Given the description of an element on the screen output the (x, y) to click on. 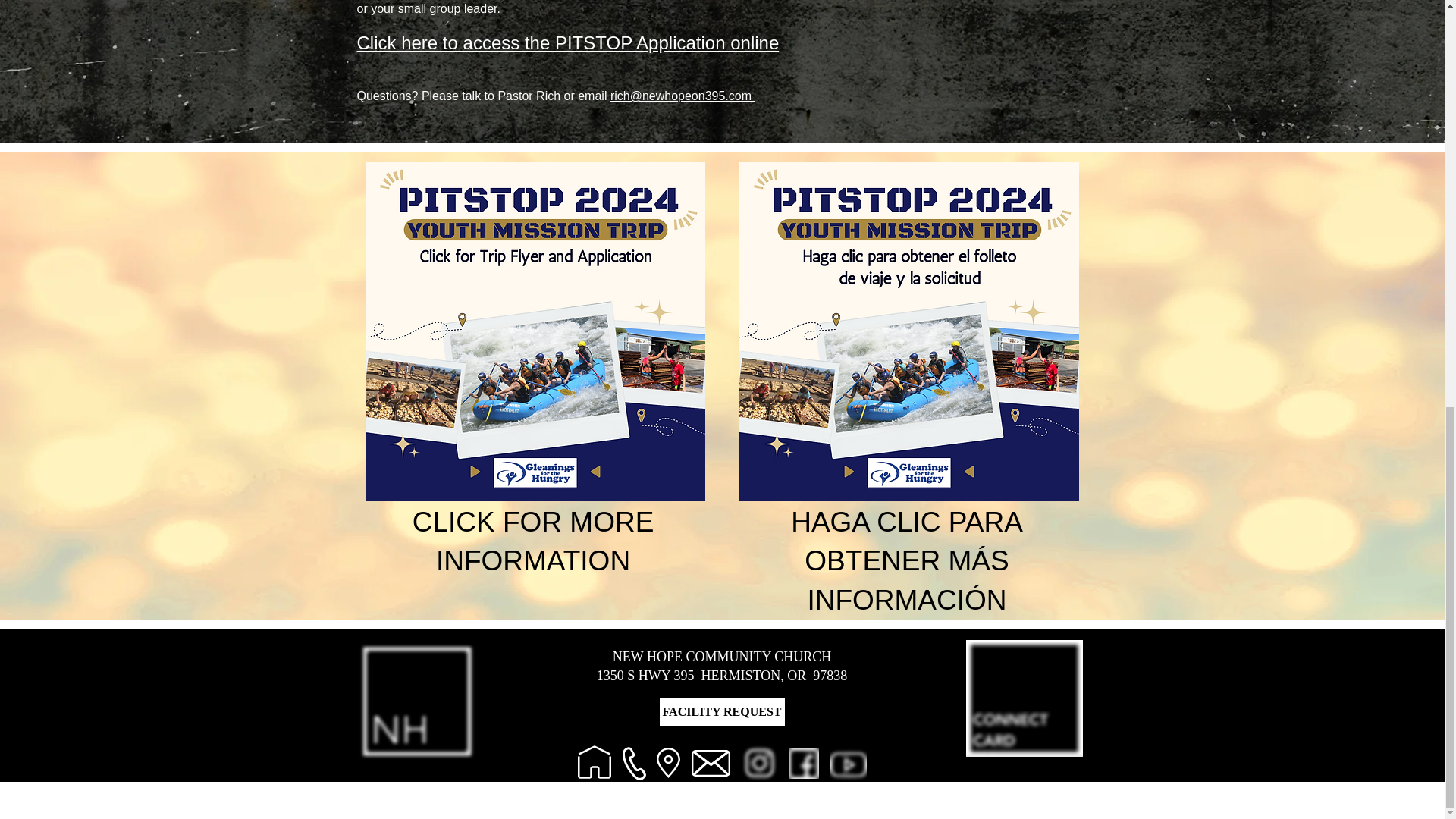
Click here to access the PITSTOP Application online (567, 42)
FACILITY REQUEST (721, 711)
